Given the description of an element on the screen output the (x, y) to click on. 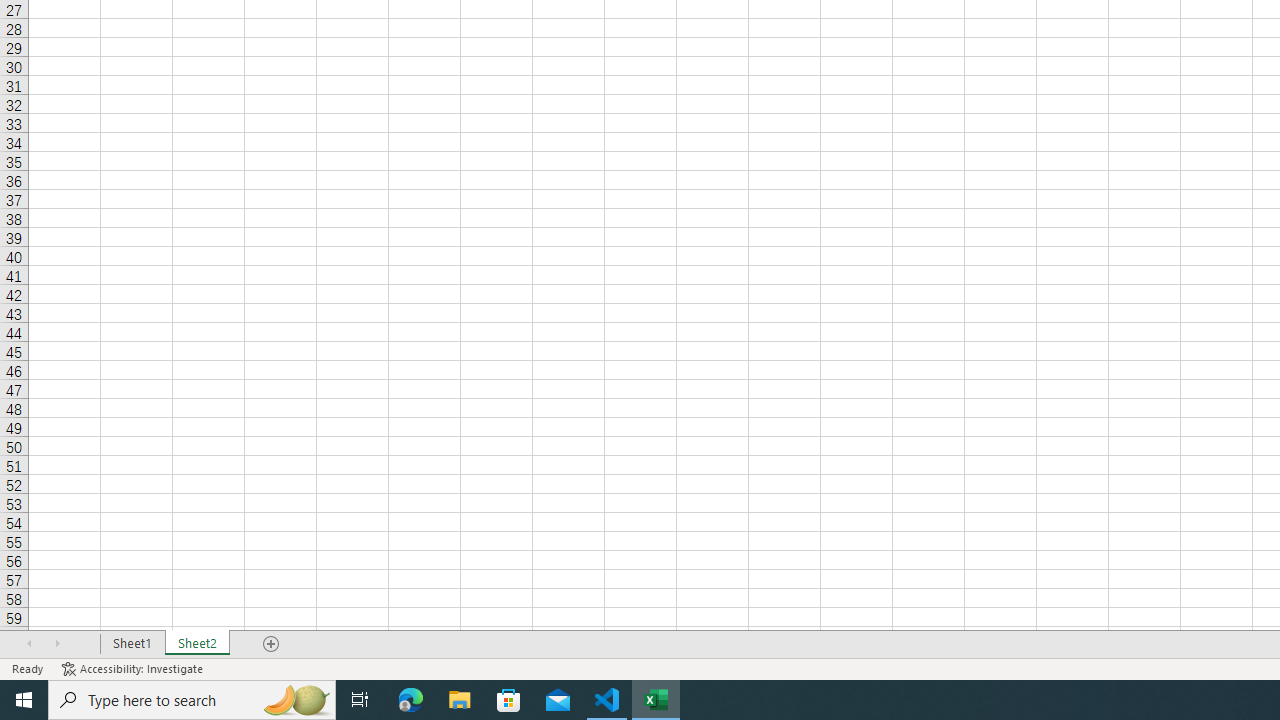
Accessibility Checker Accessibility: Investigate (134, 668)
Sheet2 (197, 644)
